Given the description of an element on the screen output the (x, y) to click on. 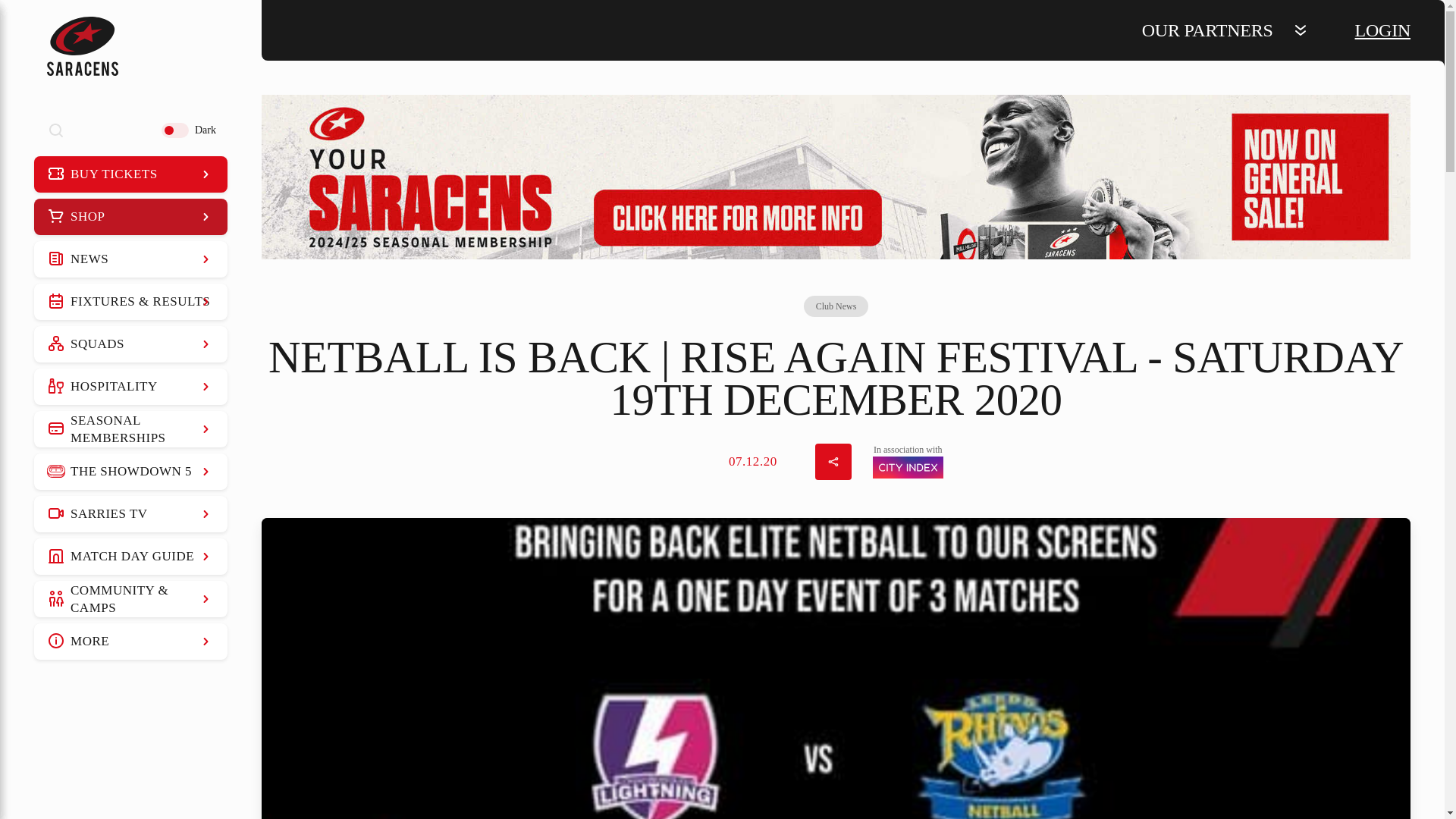
NEWS (130, 258)
BUY TICKETS (130, 174)
MATCH DAY GUIDE (130, 556)
HOSPITALITY (130, 386)
LOGIN (1382, 29)
SQUADS (130, 343)
SHOP (130, 217)
SARRIES TV (130, 514)
MORE (130, 641)
Search (55, 130)
